Given the description of an element on the screen output the (x, y) to click on. 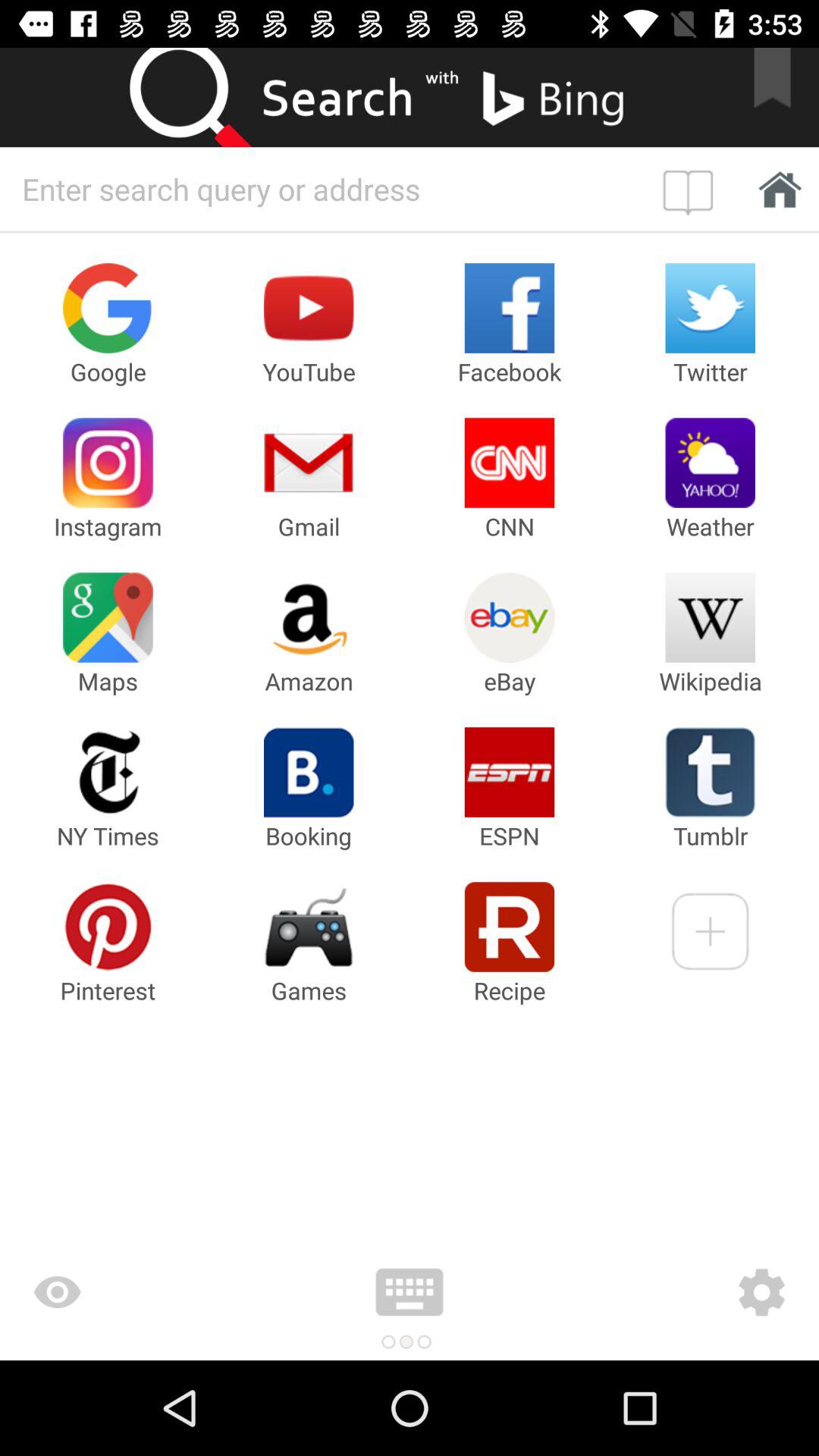
bookmark search (782, 97)
